Given the description of an element on the screen output the (x, y) to click on. 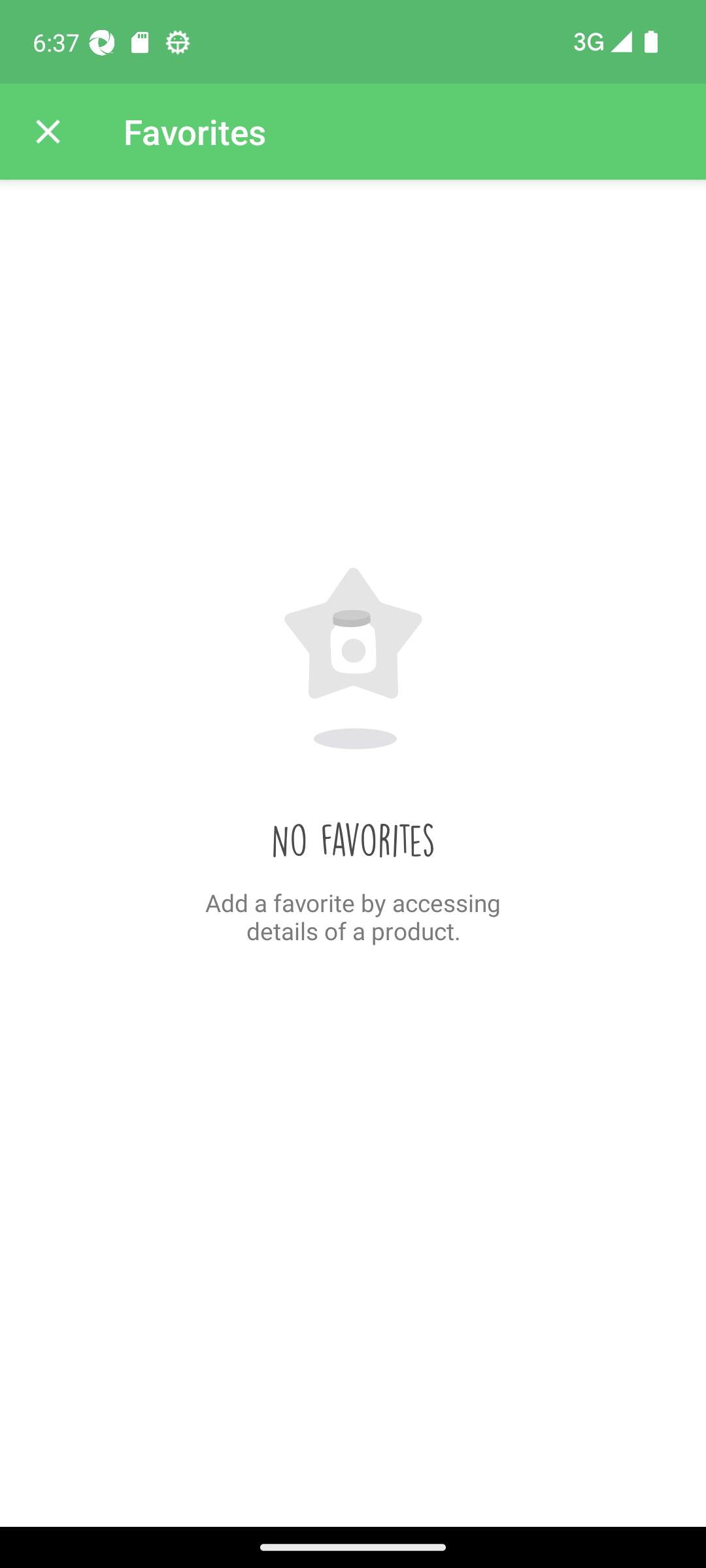
Navigate up (48, 131)
